Given the description of an element on the screen output the (x, y) to click on. 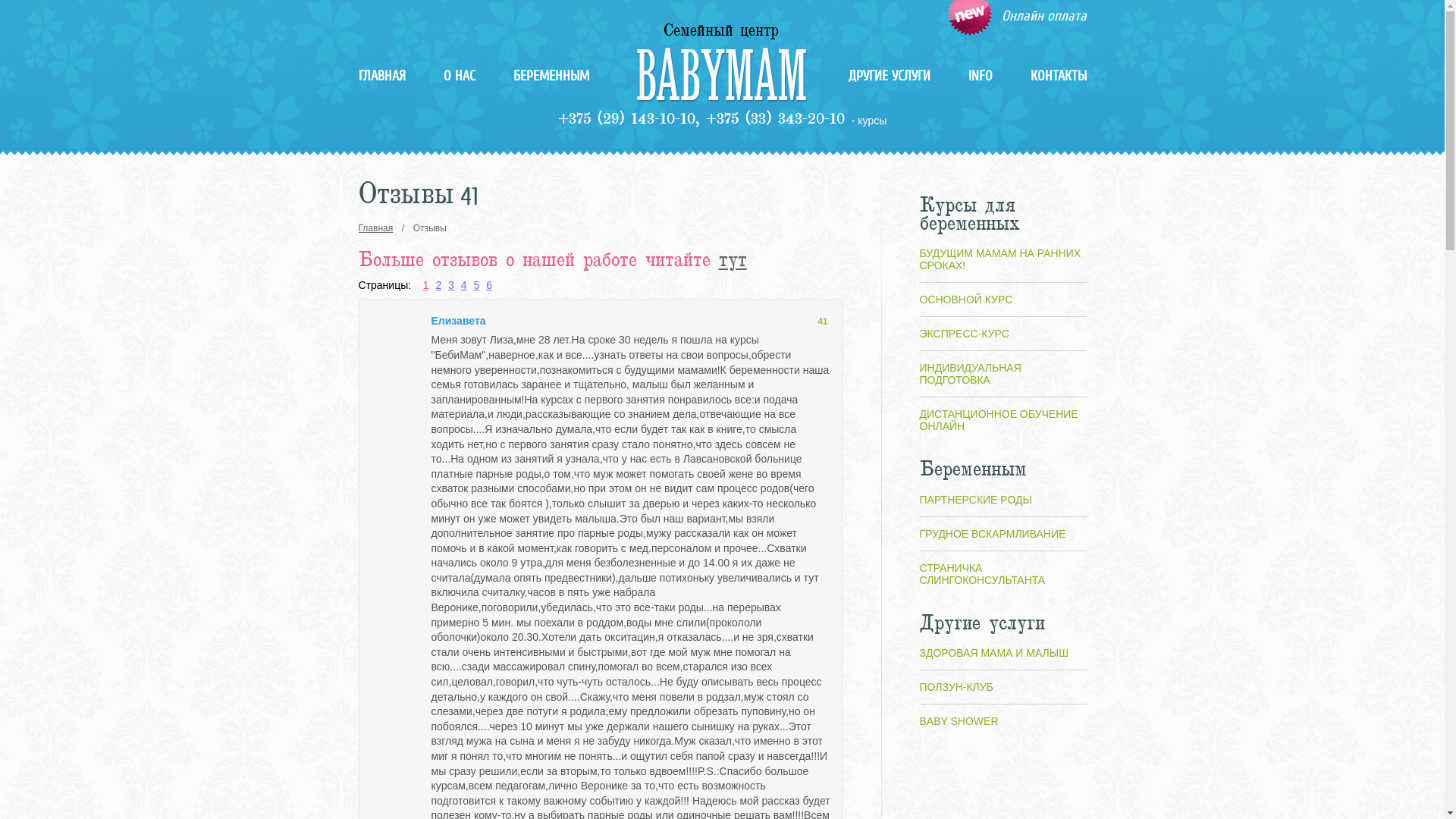
3 Element type: text (451, 285)
5 Element type: text (476, 285)
1 Element type: text (426, 285)
41 Element type: text (822, 321)
4 Element type: text (464, 285)
BABY SHOWER Element type: text (958, 721)
6 Element type: text (489, 285)
2 Element type: text (438, 285)
INFO Element type: text (979, 75)
